Given the description of an element on the screen output the (x, y) to click on. 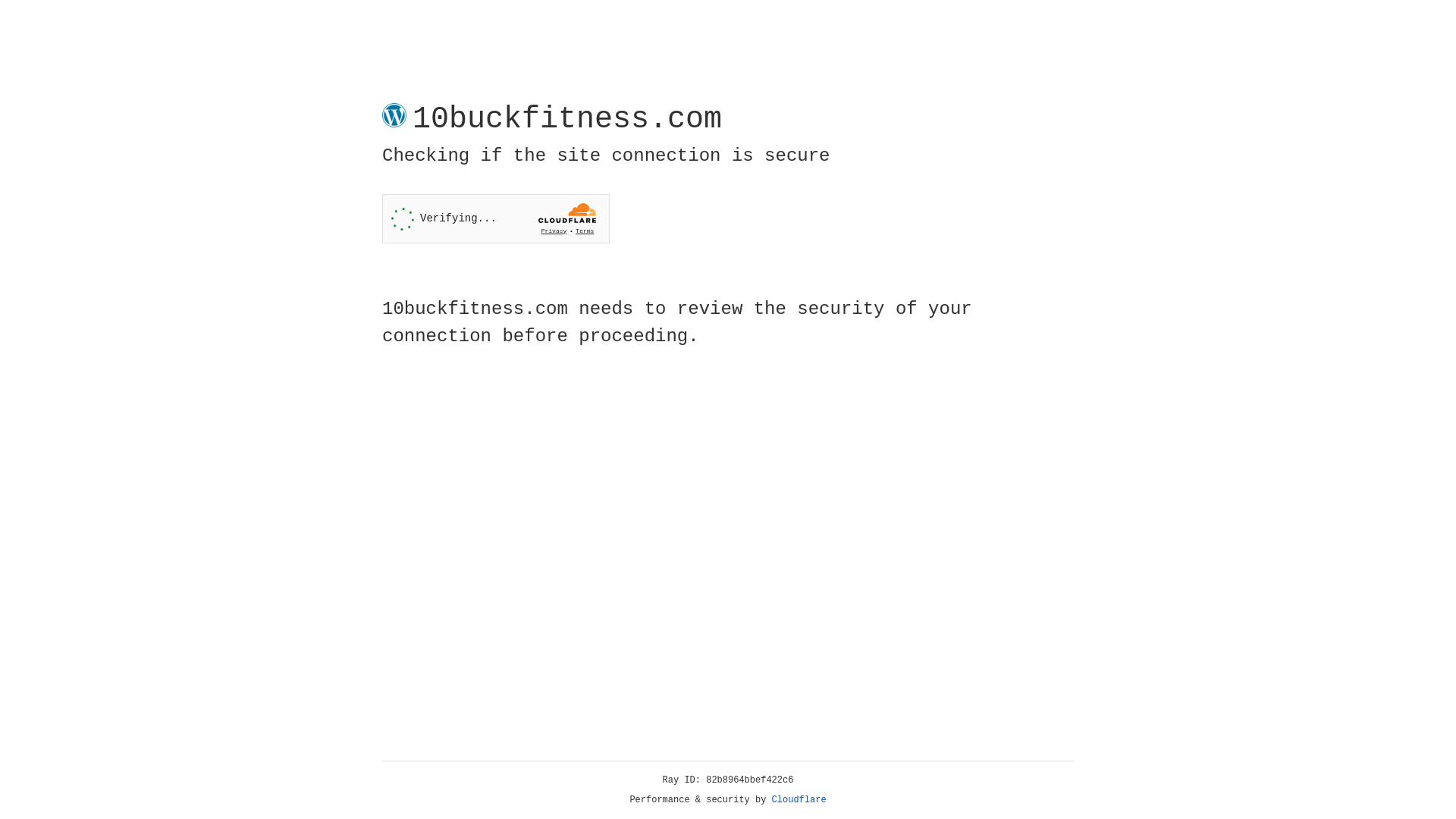
Widget containing a Cloudflare security challenge Element type: hover (495, 218)
Cloudflare Element type: text (798, 799)
